Given the description of an element on the screen output the (x, y) to click on. 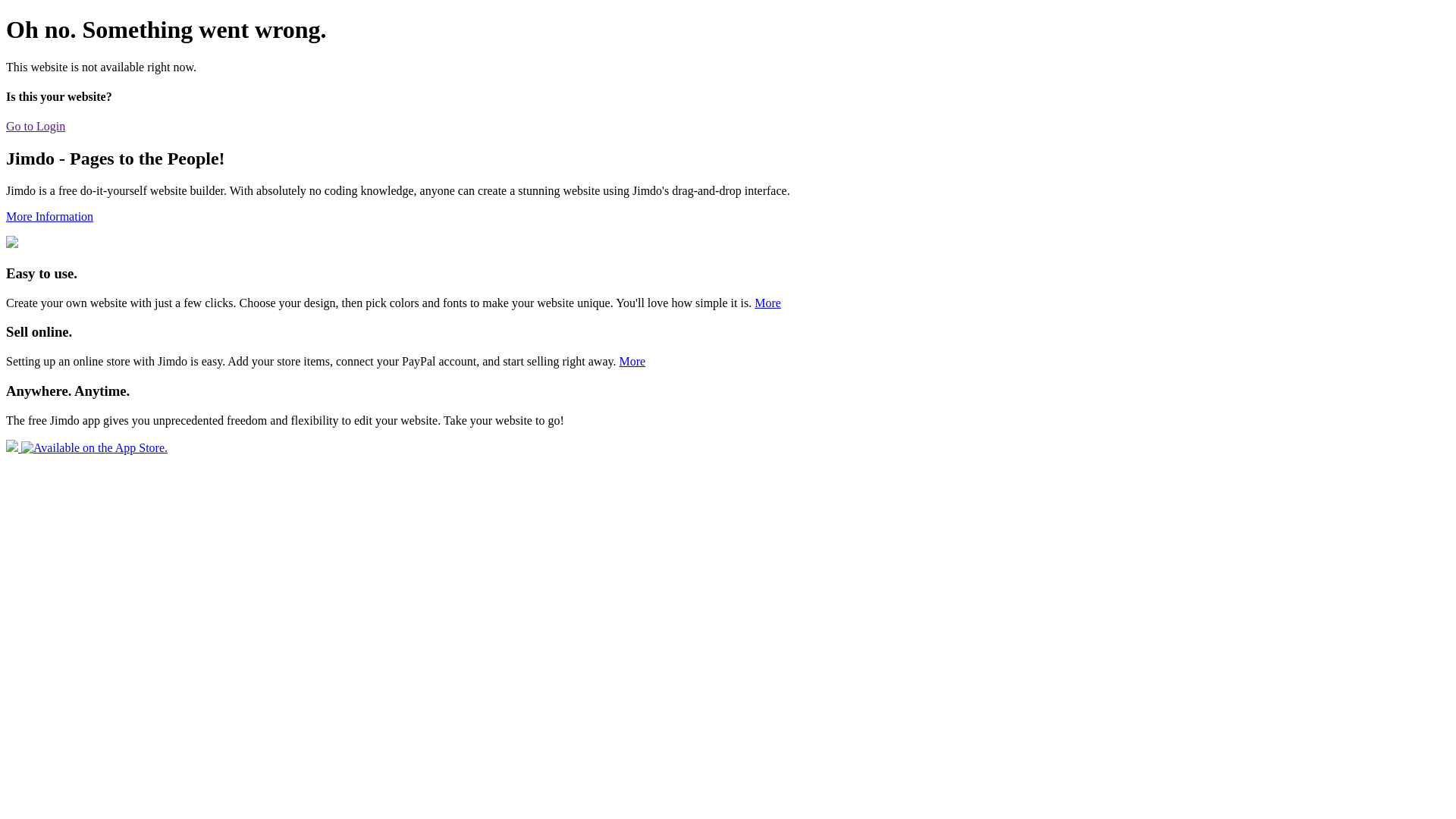
More Element type: text (767, 302)
More Information Element type: text (49, 216)
Go to Login Element type: text (35, 125)
More Element type: text (631, 360)
Available on the App Store. Element type: hover (86, 447)
